Given the description of an element on the screen output the (x, y) to click on. 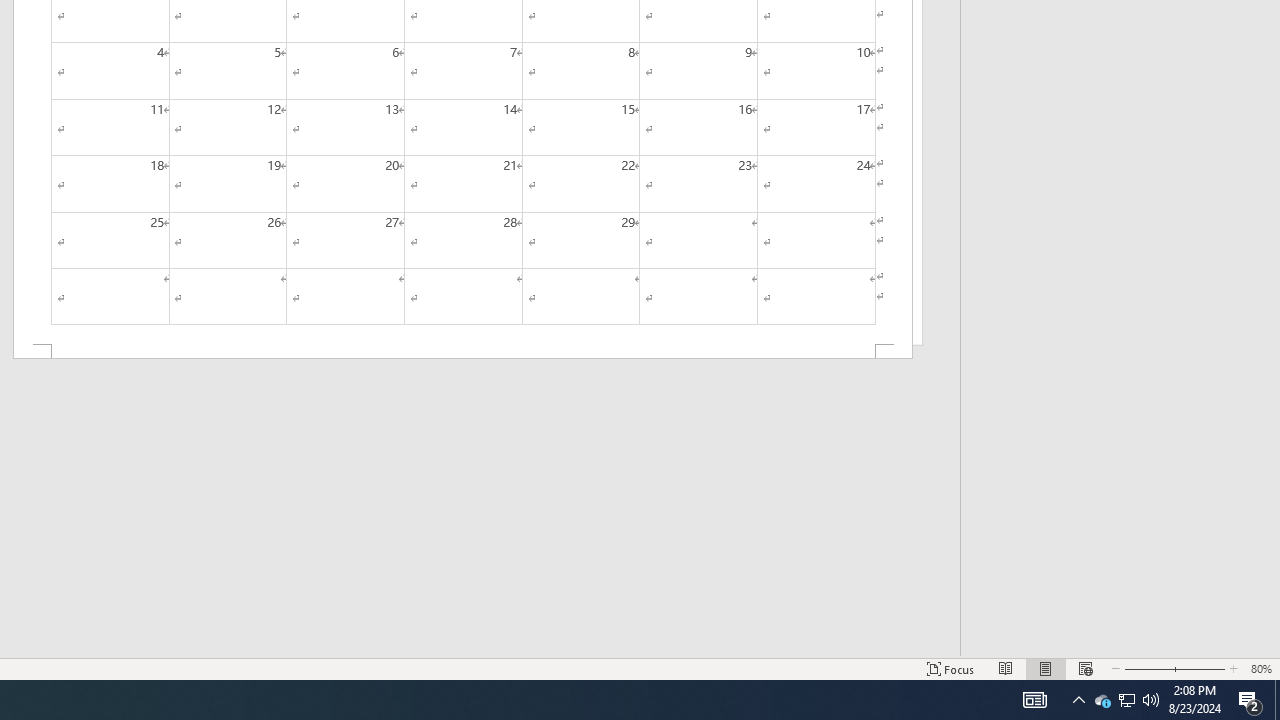
Zoom Out (1143, 668)
Footer -Section 2- (462, 351)
Read Mode (1005, 668)
Print Layout (1046, 668)
Web Layout (1085, 668)
Focus  (951, 668)
Zoom In (1195, 668)
